Given the description of an element on the screen output the (x, y) to click on. 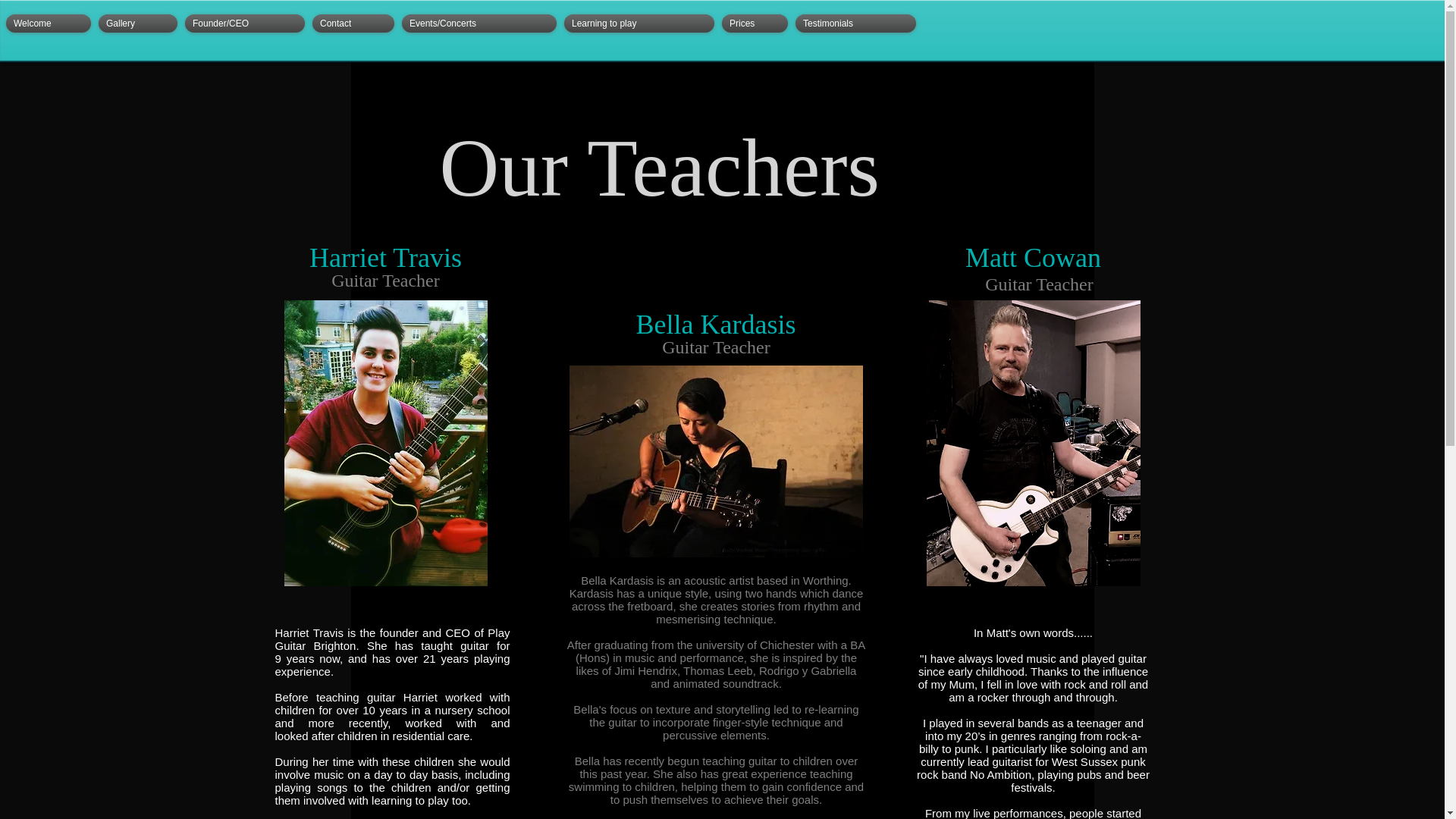
Gallery (137, 23)
Testimonials (856, 23)
Welcome (49, 23)
Learning to play (638, 23)
Contact (352, 23)
Prices (754, 23)
